Given the description of an element on the screen output the (x, y) to click on. 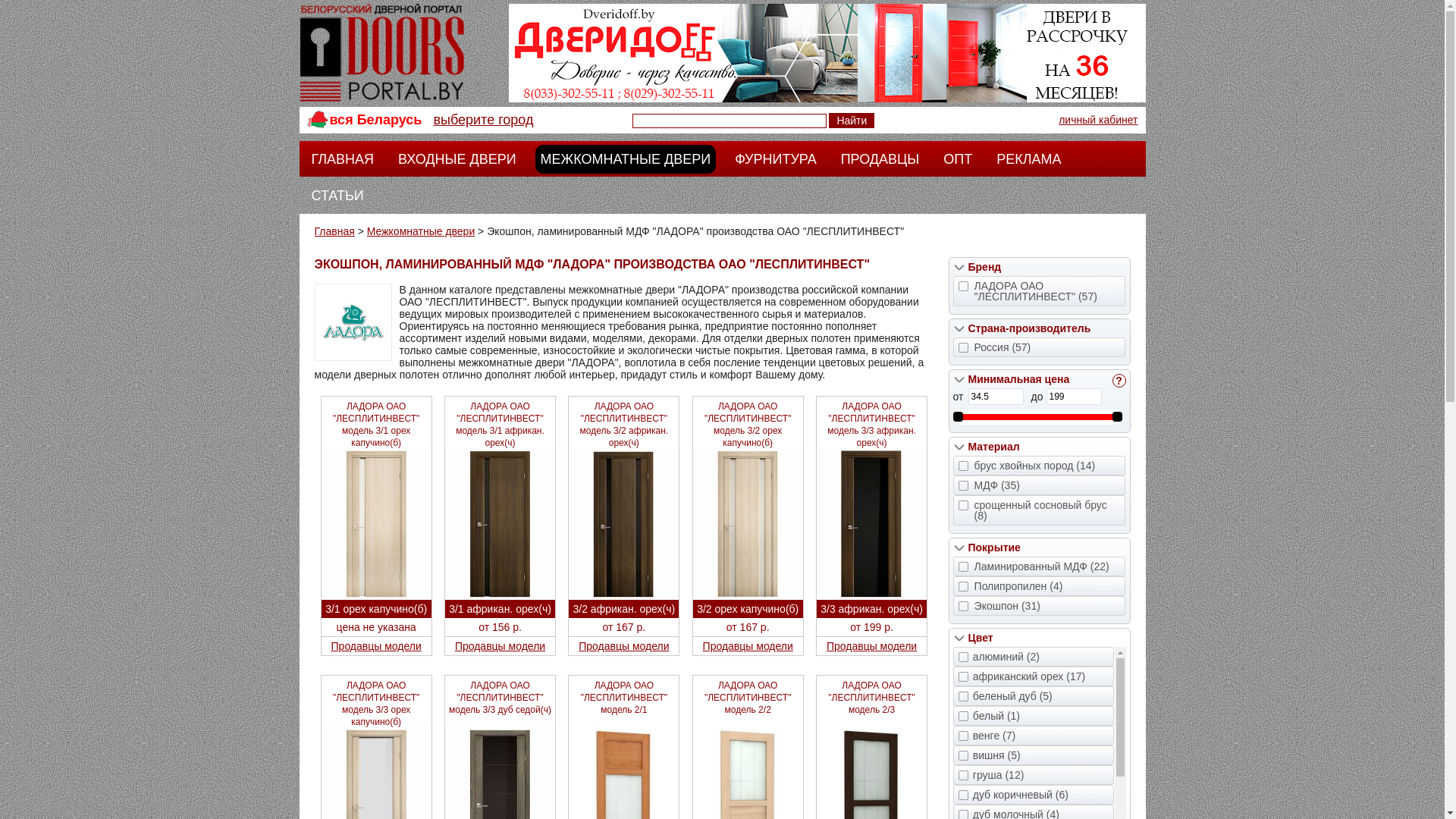
? Element type: text (1118, 380)
